Given the description of an element on the screen output the (x, y) to click on. 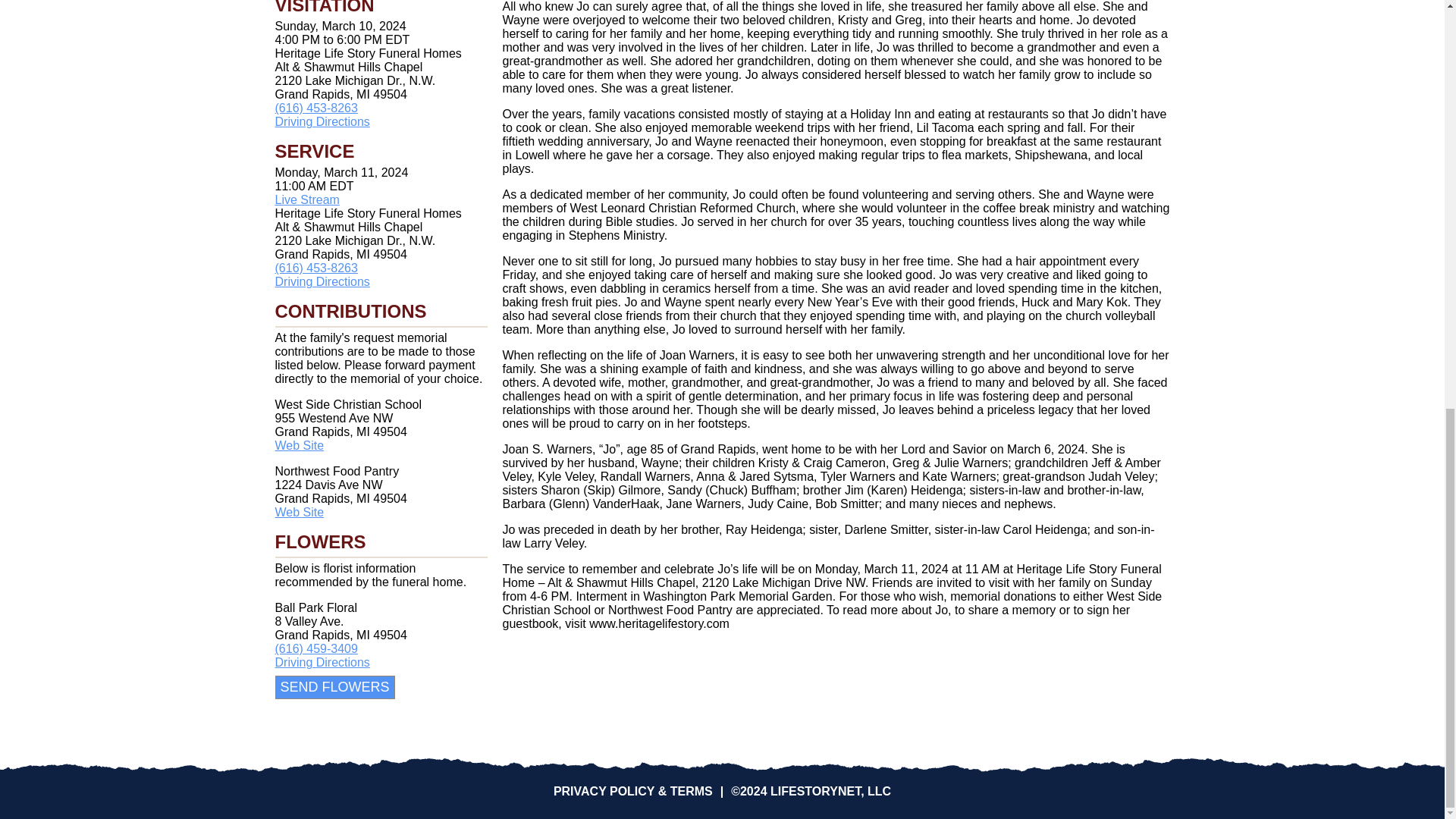
Driving Directions (322, 121)
Driving Directions (322, 281)
Web Site (299, 512)
Driving Directions (322, 662)
Live Stream (307, 199)
Send Flowers (334, 687)
Web Site (299, 445)
